Given the description of an element on the screen output the (x, y) to click on. 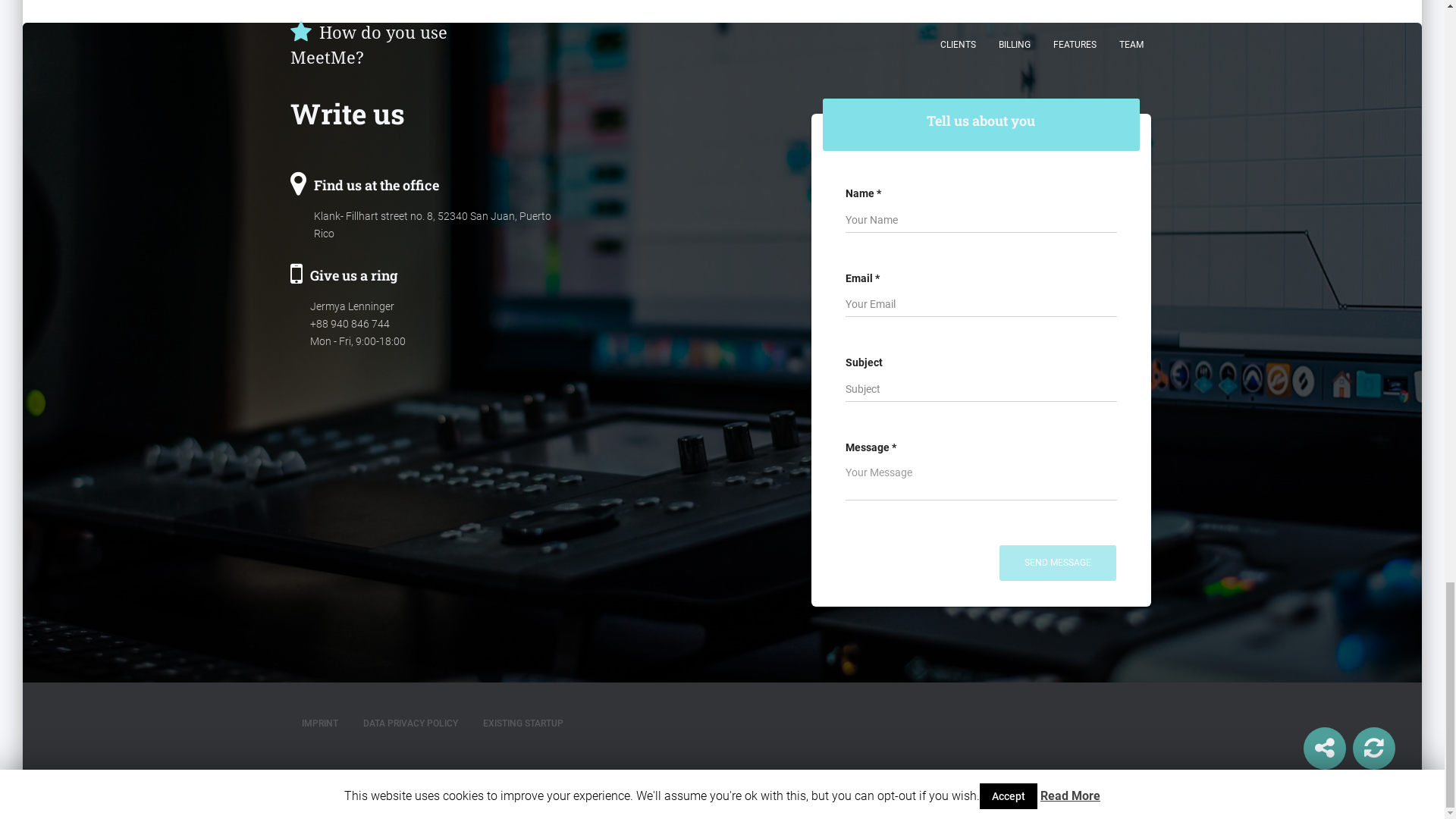
IMPRINT (319, 723)
EXISTING STARTUP (523, 723)
SEND MESSAGE (1057, 562)
DATA PRIVACY POLICY (410, 723)
